Given the description of an element on the screen output the (x, y) to click on. 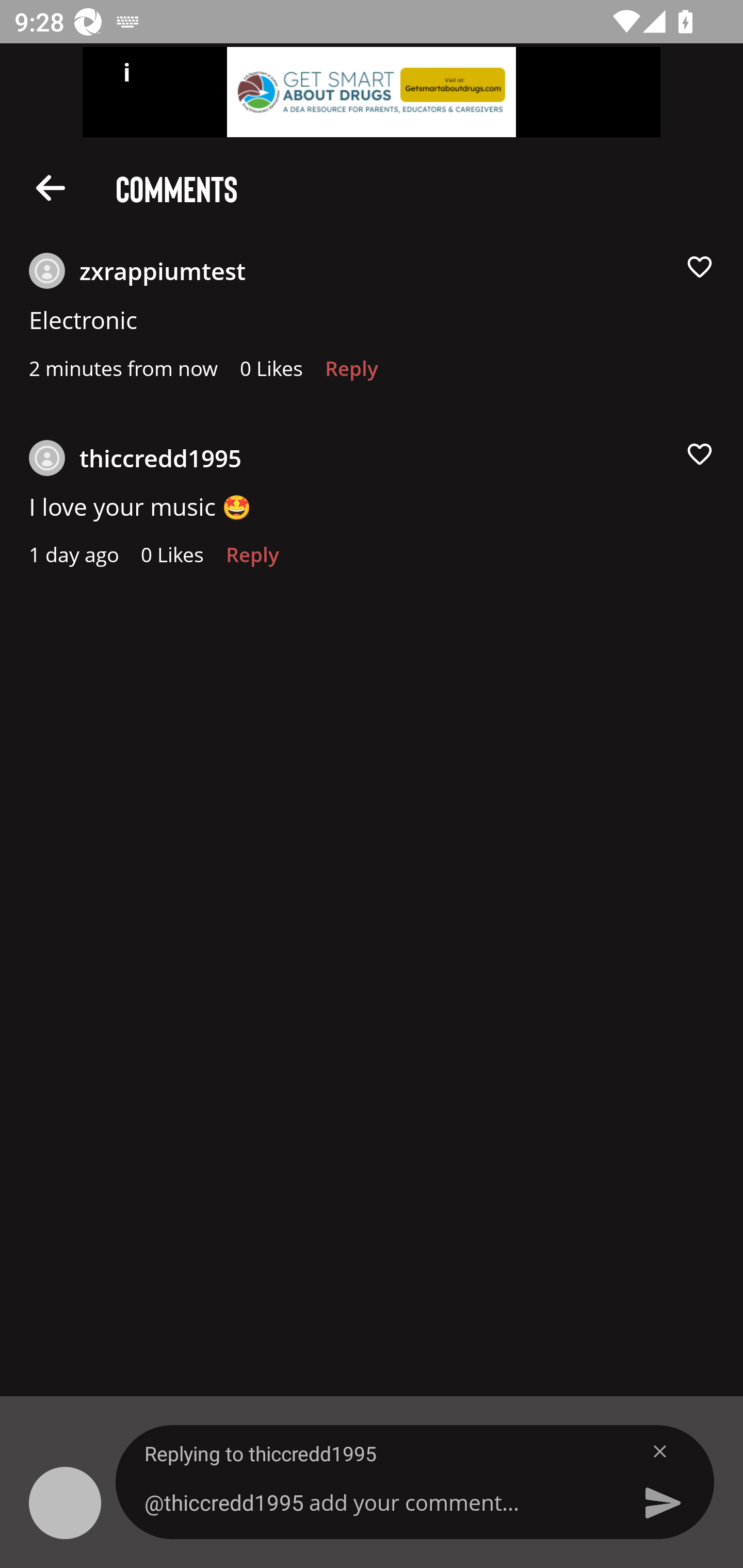
Description (50, 187)
Reply (351, 372)
Reply (252, 559)
add your comment… (378, 1502)
